Given the description of an element on the screen output the (x, y) to click on. 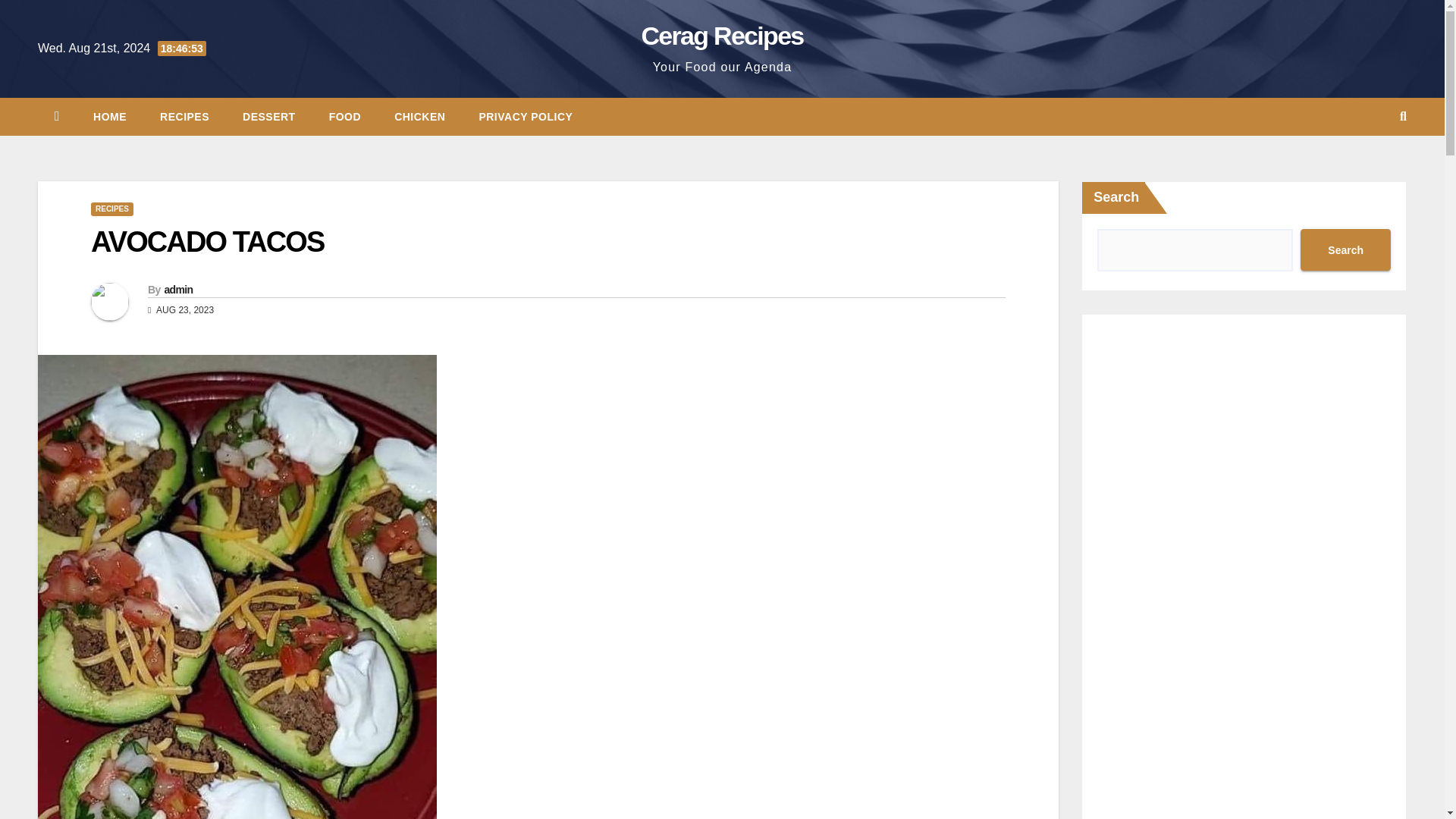
PRIVACY POLICY (525, 116)
Dessert (269, 116)
DESSERT (269, 116)
RECIPES (111, 209)
HOME (109, 116)
RECIPES (183, 116)
Recipes (183, 116)
Privacy Policy (525, 116)
admin (177, 289)
CHICKEN (419, 116)
